Given the description of an element on the screen output the (x, y) to click on. 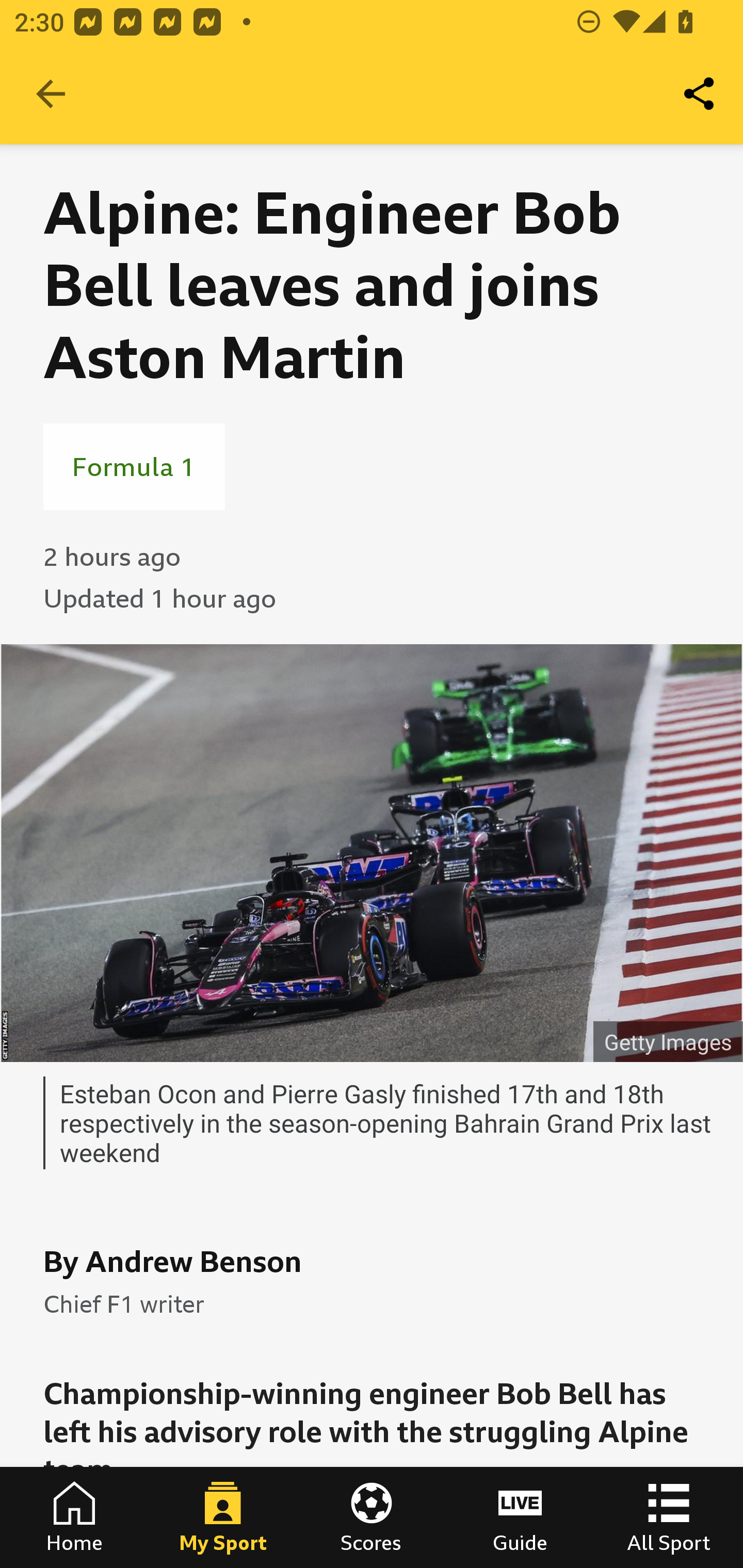
Navigate up (50, 93)
Share (699, 93)
Formula 1 (134, 466)
Home (74, 1517)
Scores (371, 1517)
Guide (519, 1517)
All Sport (668, 1517)
